Given the description of an element on the screen output the (x, y) to click on. 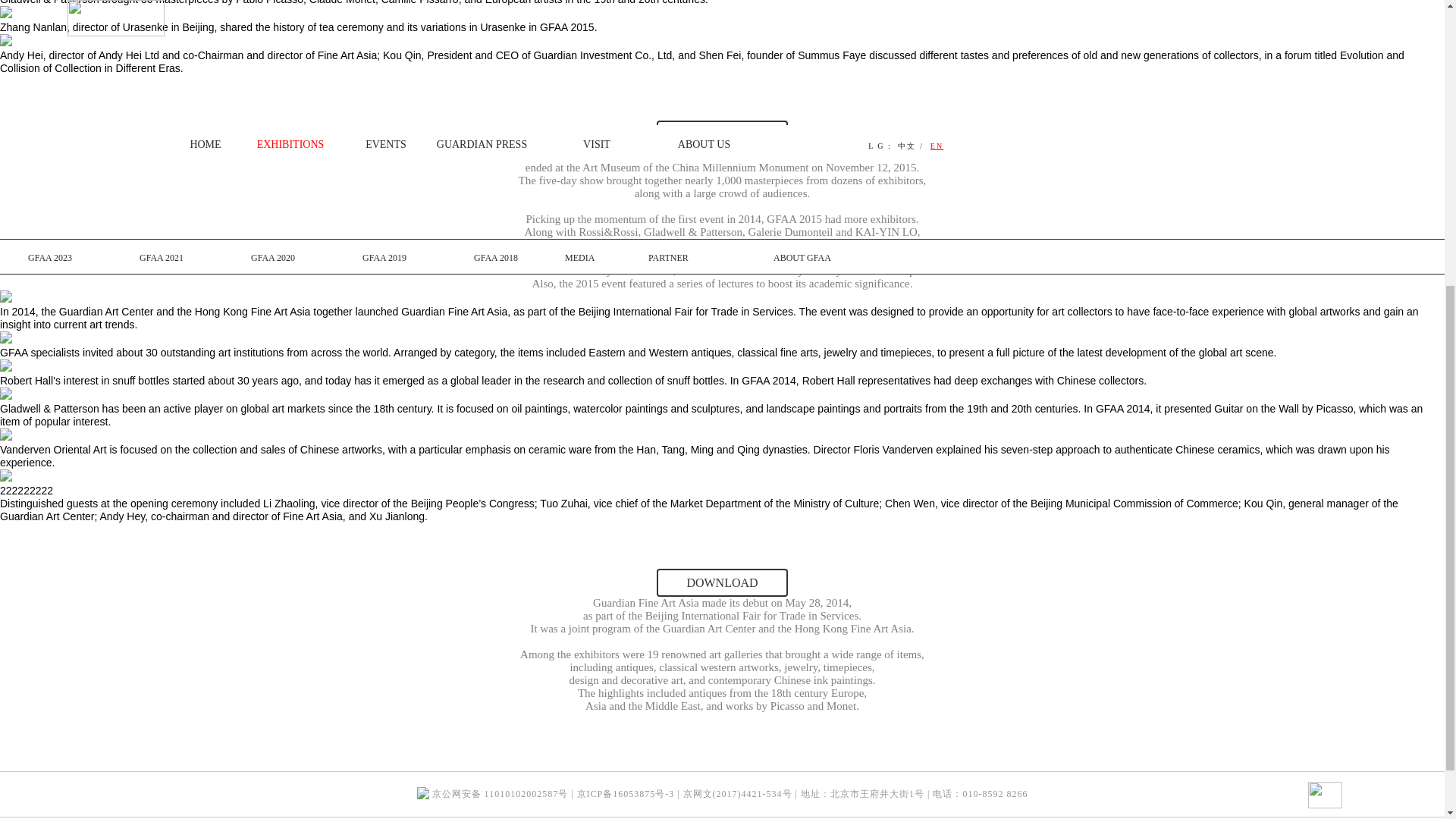
DOWNLOAD (722, 582)
DOWNLOAD (722, 134)
